Given the description of an element on the screen output the (x, y) to click on. 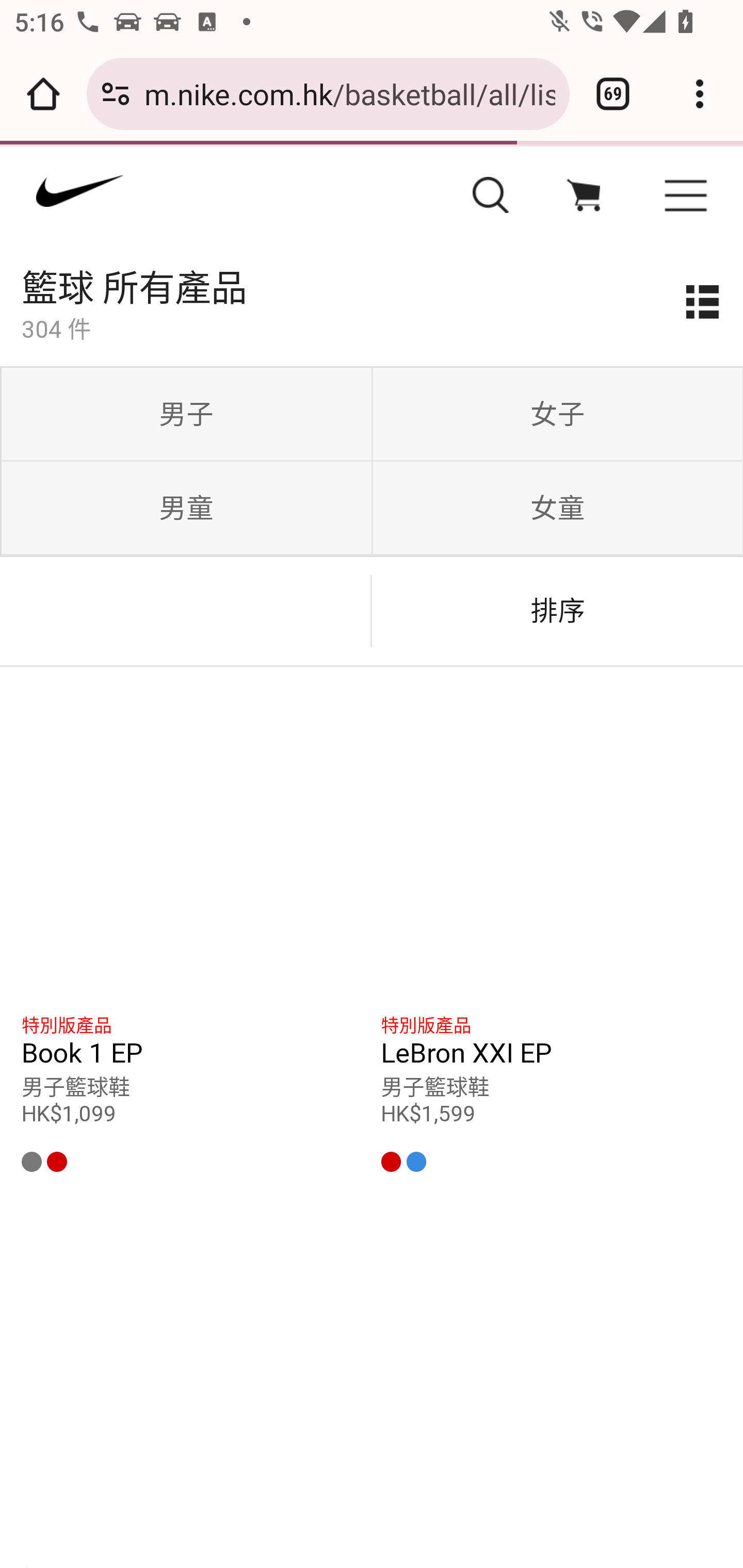
Open the home page (43, 93)
Connection is secure (115, 93)
Switch or close tabs (612, 93)
Customize and control Google Chrome (699, 93)
index (204, 199)
javascript:void(0) (582, 197)
男子 (186, 414)
女子 (557, 414)
男童 (186, 507)
女童 (557, 507)
特別版產品 Book 1 EP 男子籃球鞋 特別版產品 Book 1 EP 男子籃球鞋 (192, 1054)
HK$1,099 ?0 HK$1,099 (192, 1138)
HK$1,599 ?0 HK$1,599 (550, 1138)
